Given the description of an element on the screen output the (x, y) to click on. 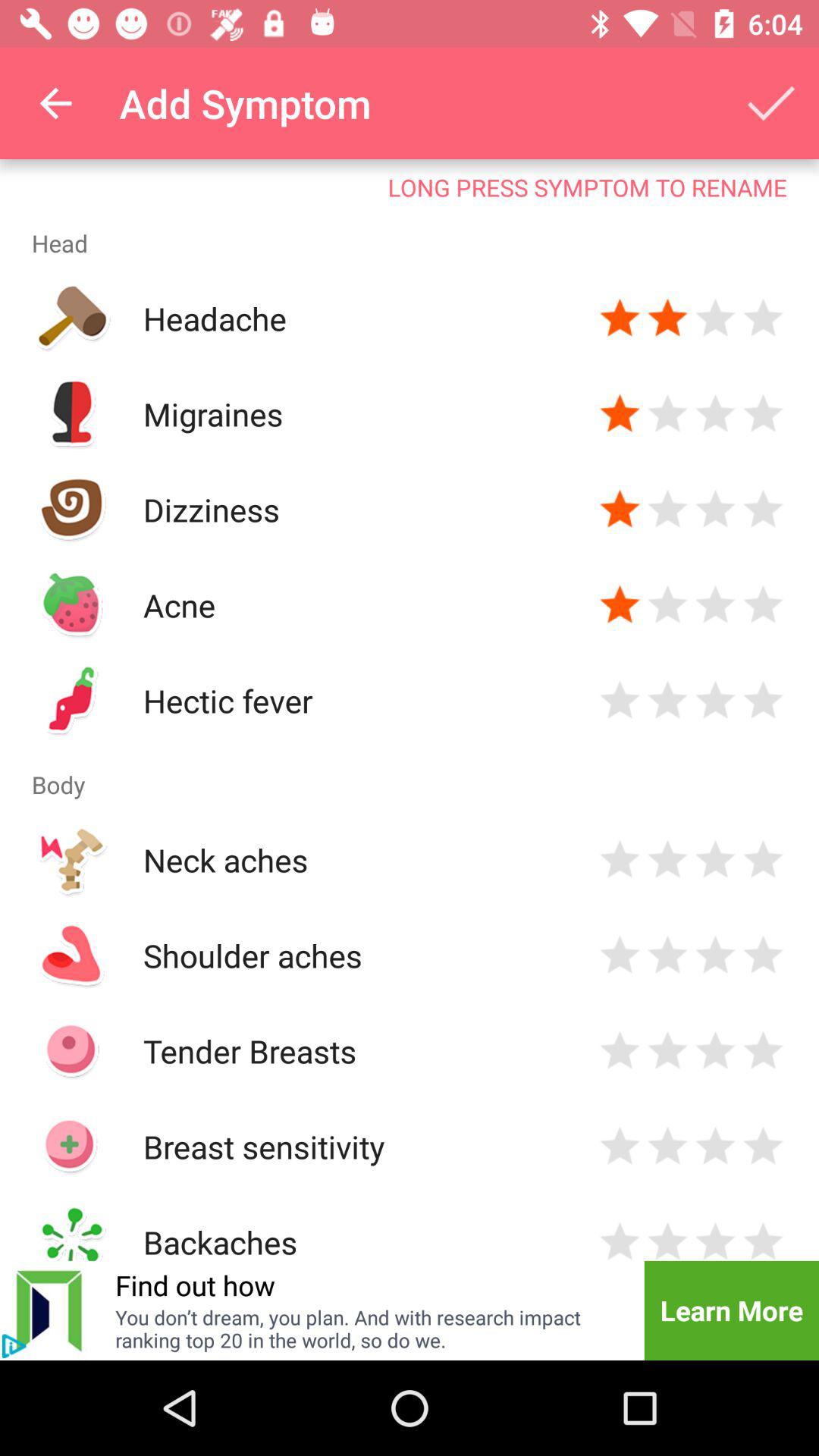
rate 3 (715, 955)
